Given the description of an element on the screen output the (x, y) to click on. 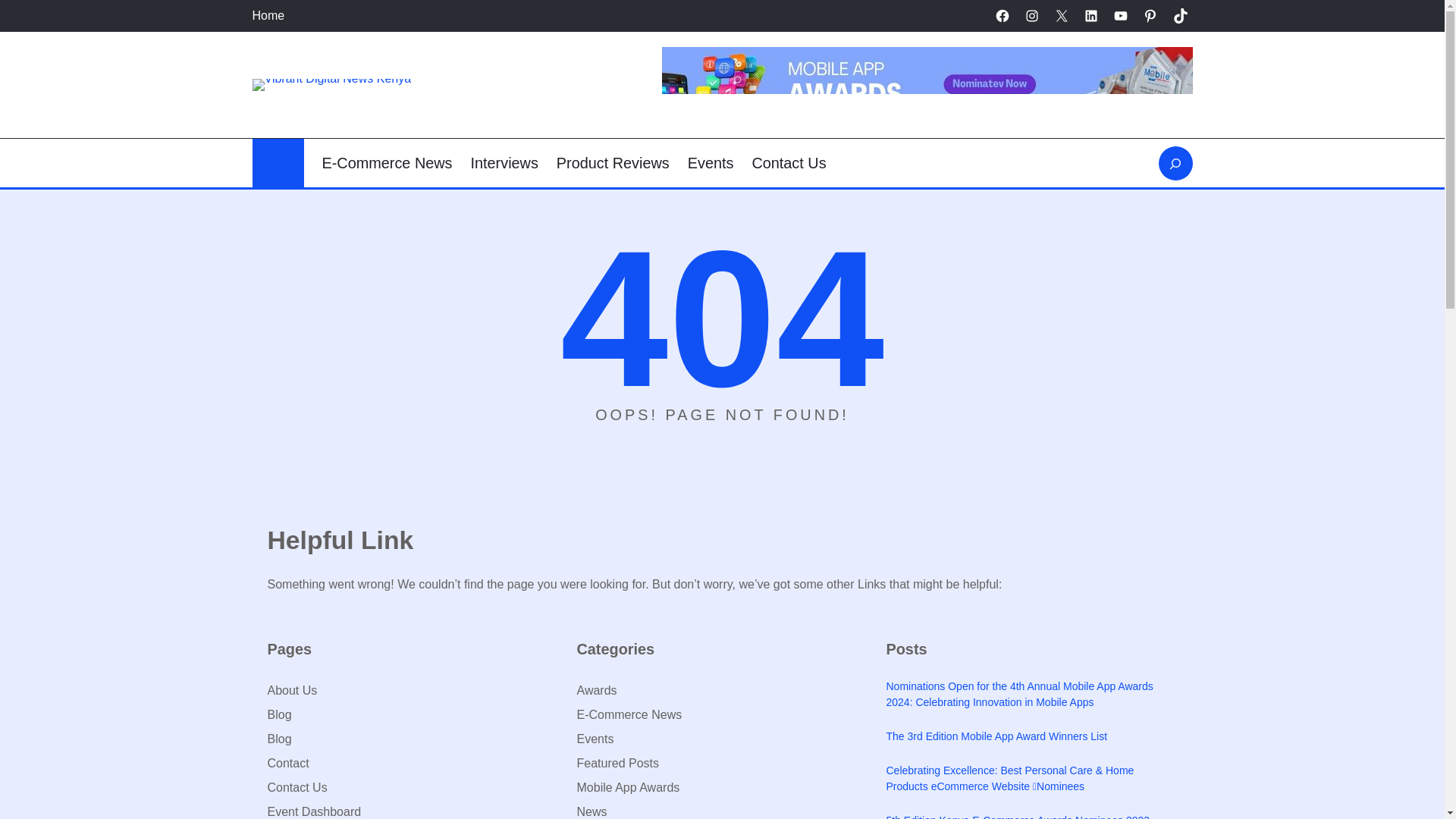
Home (267, 15)
X (1061, 15)
Blog (278, 738)
Contact (287, 762)
Event Dashboard (313, 811)
Contact Us (788, 162)
About Us (291, 689)
Pinterest (1149, 15)
Facebook (1002, 15)
Interviews (504, 162)
